Given the description of an element on the screen output the (x, y) to click on. 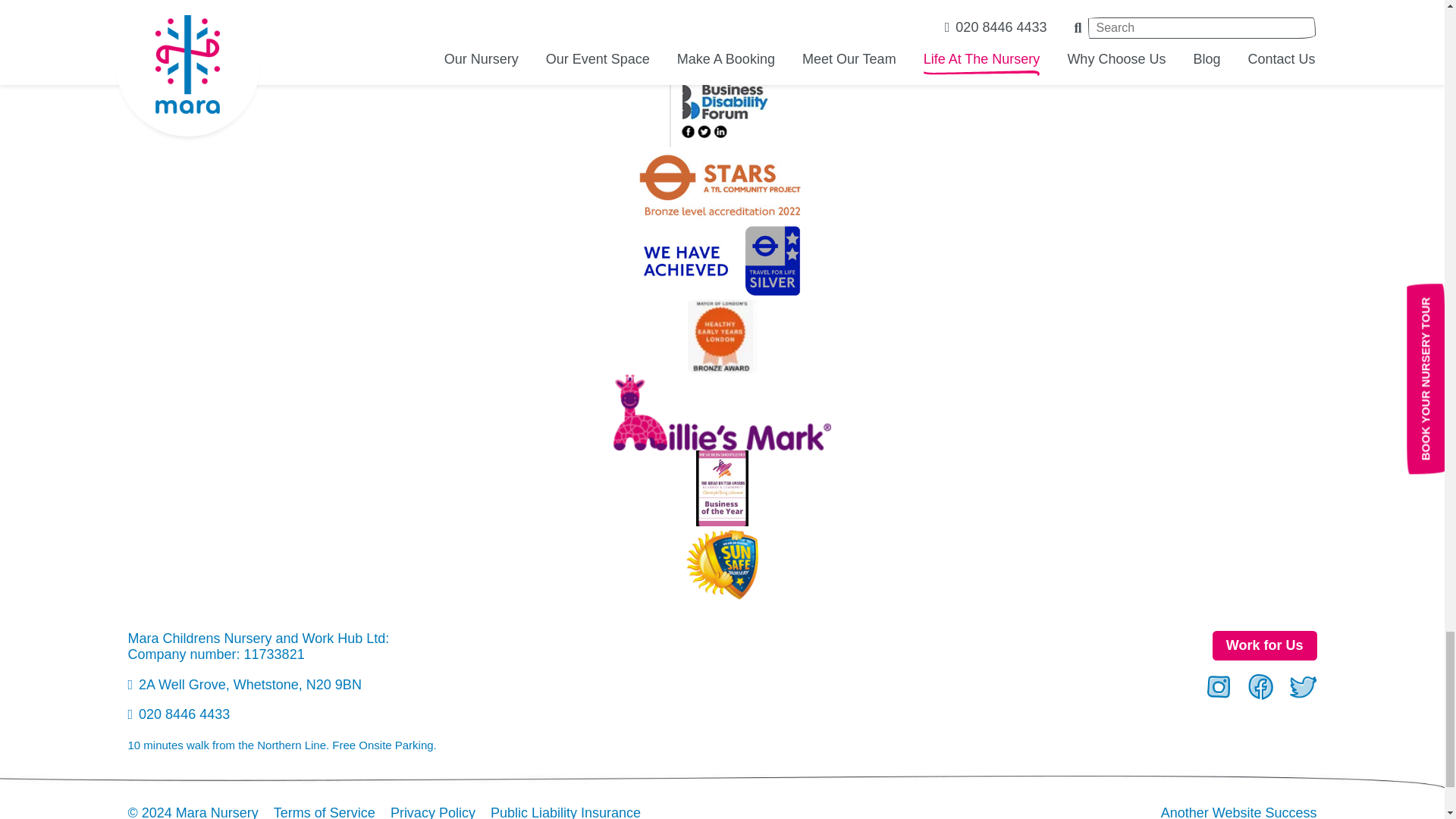
Work for Us (1264, 645)
Public Liability Insurance (565, 812)
Privacy Policy (433, 812)
Another Website Success (1238, 812)
Terms of Service (324, 812)
